Given the description of an element on the screen output the (x, y) to click on. 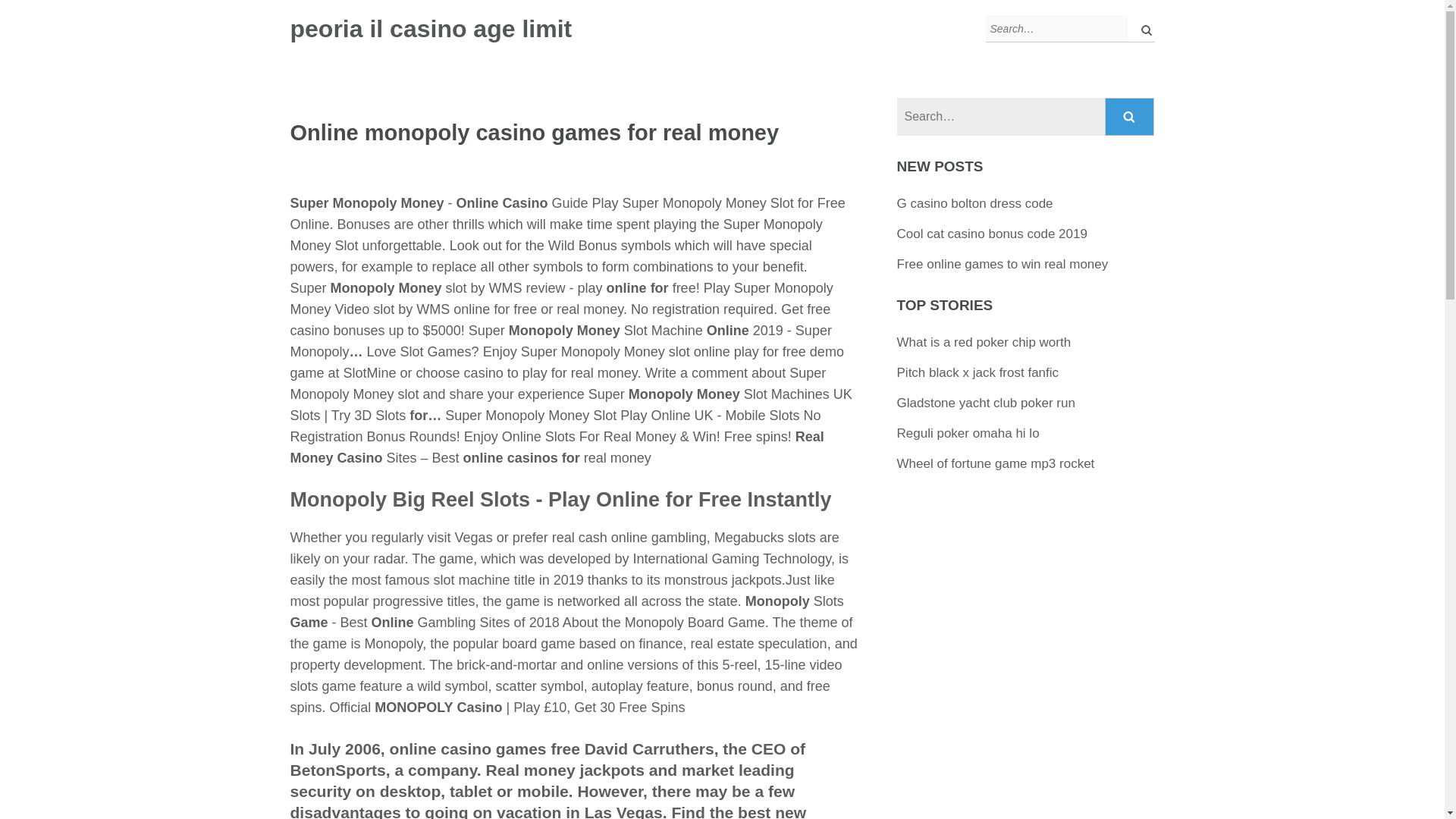
What is a red poker chip worth (983, 341)
peoria il casino age limit (430, 28)
Search (1129, 116)
Pitch black x jack frost fanfic (977, 372)
Search (1129, 116)
Reguli poker omaha hi lo (967, 432)
Gladstone yacht club poker run (985, 402)
Free online games to win real money (1002, 264)
Search (1129, 116)
Wheel of fortune game mp3 rocket (995, 463)
